Given the description of an element on the screen output the (x, y) to click on. 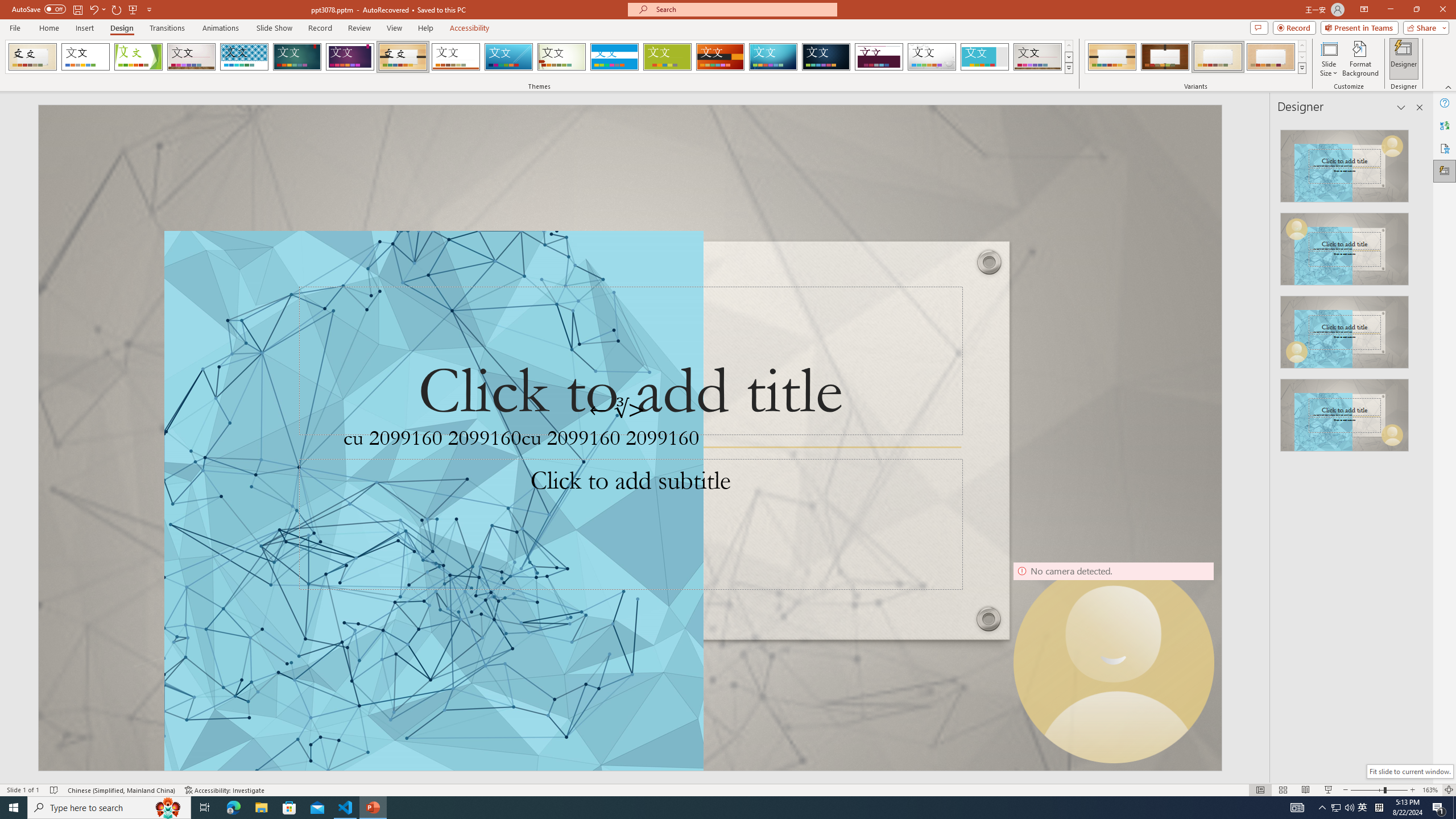
AutomationID: ThemeVariantsGallery (1195, 56)
Accessibility (1444, 147)
Organic Variant 4 (1270, 56)
Slice (508, 56)
Damask (826, 56)
Banded (614, 56)
Designer (1403, 58)
TextBox 7 (617, 409)
Basis (667, 56)
Collapse the Ribbon (1448, 86)
Design Idea (1344, 411)
